Given the description of an element on the screen output the (x, y) to click on. 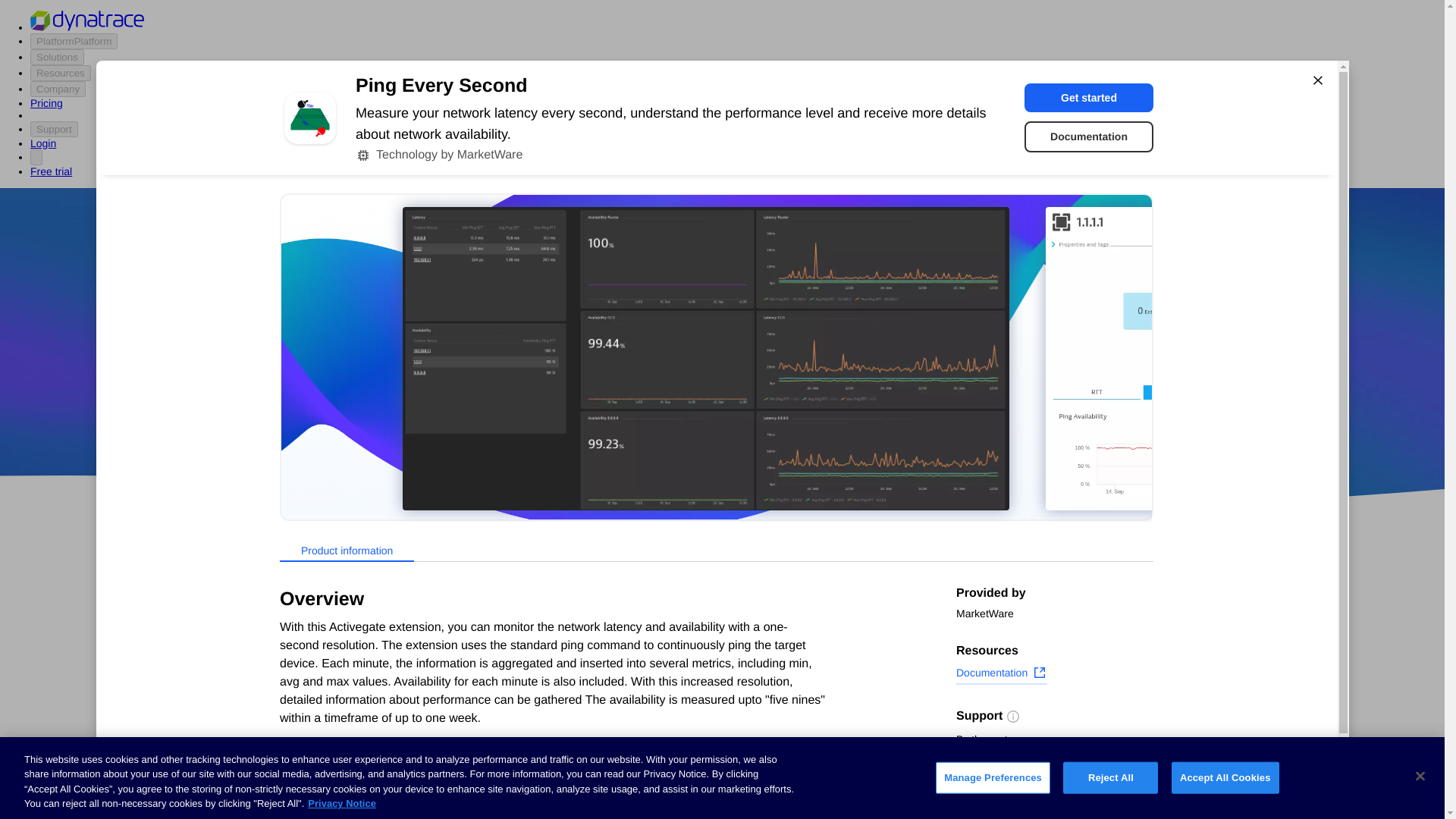
Google Cloud (751, 418)
Documentation (1089, 136)
Log Management and Analytics (345, 727)
Certified Partners (309, 612)
Infrastructure Observability (335, 809)
Advanced SSL Certificate Check for Dynatrace (606, 722)
DevOps (829, 418)
Hub home (291, 583)
AWS (637, 418)
Get data into Dynatrace (325, 641)
